Given the description of an element on the screen output the (x, y) to click on. 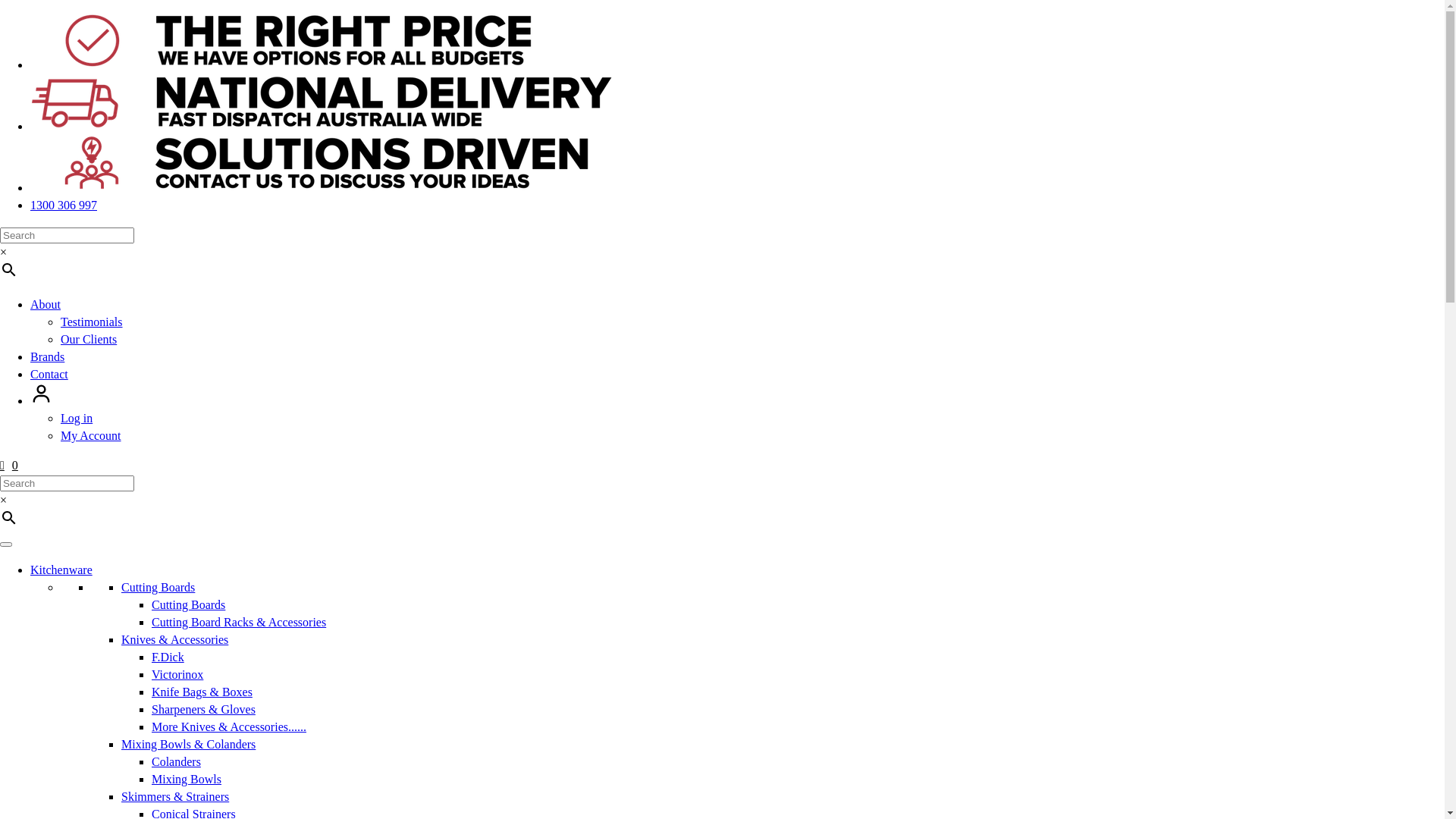
My Account Element type: text (90, 435)
Knives & Accessories Element type: text (174, 639)
Colanders Element type: text (175, 761)
Cutting Boards Element type: text (188, 604)
F.Dick Element type: text (167, 656)
Home Element type: text (867, 66)
Knife Bags & Boxes Element type: text (201, 691)
Skimmers & Strainers Element type: text (175, 796)
Brands Element type: text (909, 66)
Cutting Boards Element type: text (157, 586)
Victorinox Element type: text (177, 674)
Kitchenware Element type: text (61, 569)
Mixing Bowls & Colanders Element type: text (188, 743)
More Knives & Accessories...... Element type: text (228, 726)
Cutting Board Racks & Accessories Element type: text (238, 621)
Sharpeners & Gloves Element type: text (203, 708)
Log in Element type: text (76, 417)
1300 306 997 Element type: text (63, 204)
Mixing Bowls Element type: text (186, 778)
Advantage Agency Element type: text (429, 78)
0 Element type: text (9, 464)
Brands Element type: text (47, 356)
About Element type: text (45, 304)
Contact Element type: text (49, 373)
Testimonials Element type: text (91, 321)
Our Clients Element type: text (88, 338)
